Given the description of an element on the screen output the (x, y) to click on. 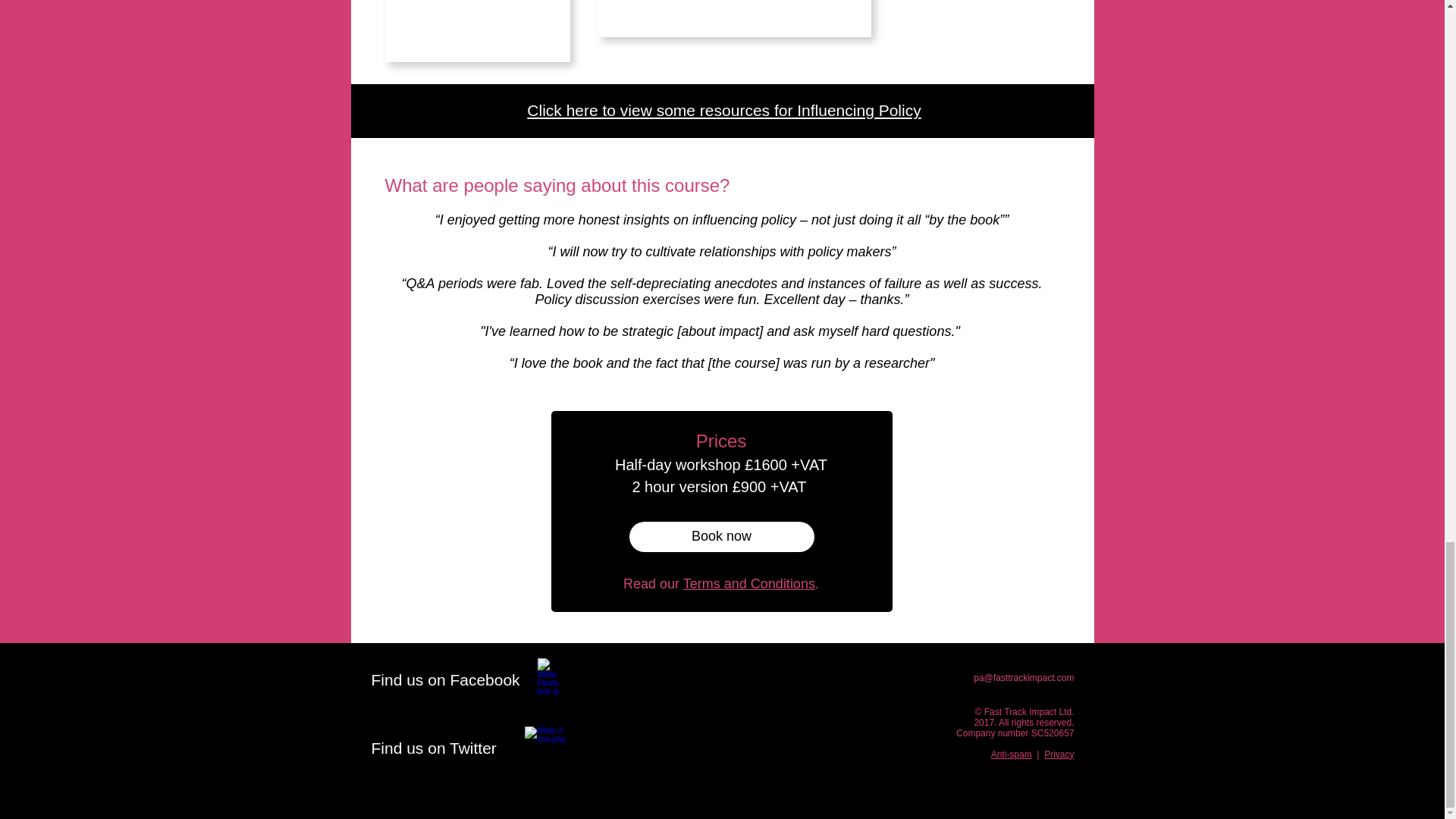
Click here to view some resources for Influencing Policy (723, 109)
Book now (720, 536)
Terms and (716, 583)
Click to view Influencing Policy slideshow (733, 18)
Conditions (783, 583)
Privacy (1058, 754)
Anti-spam (1011, 754)
